Given the description of an element on the screen output the (x, y) to click on. 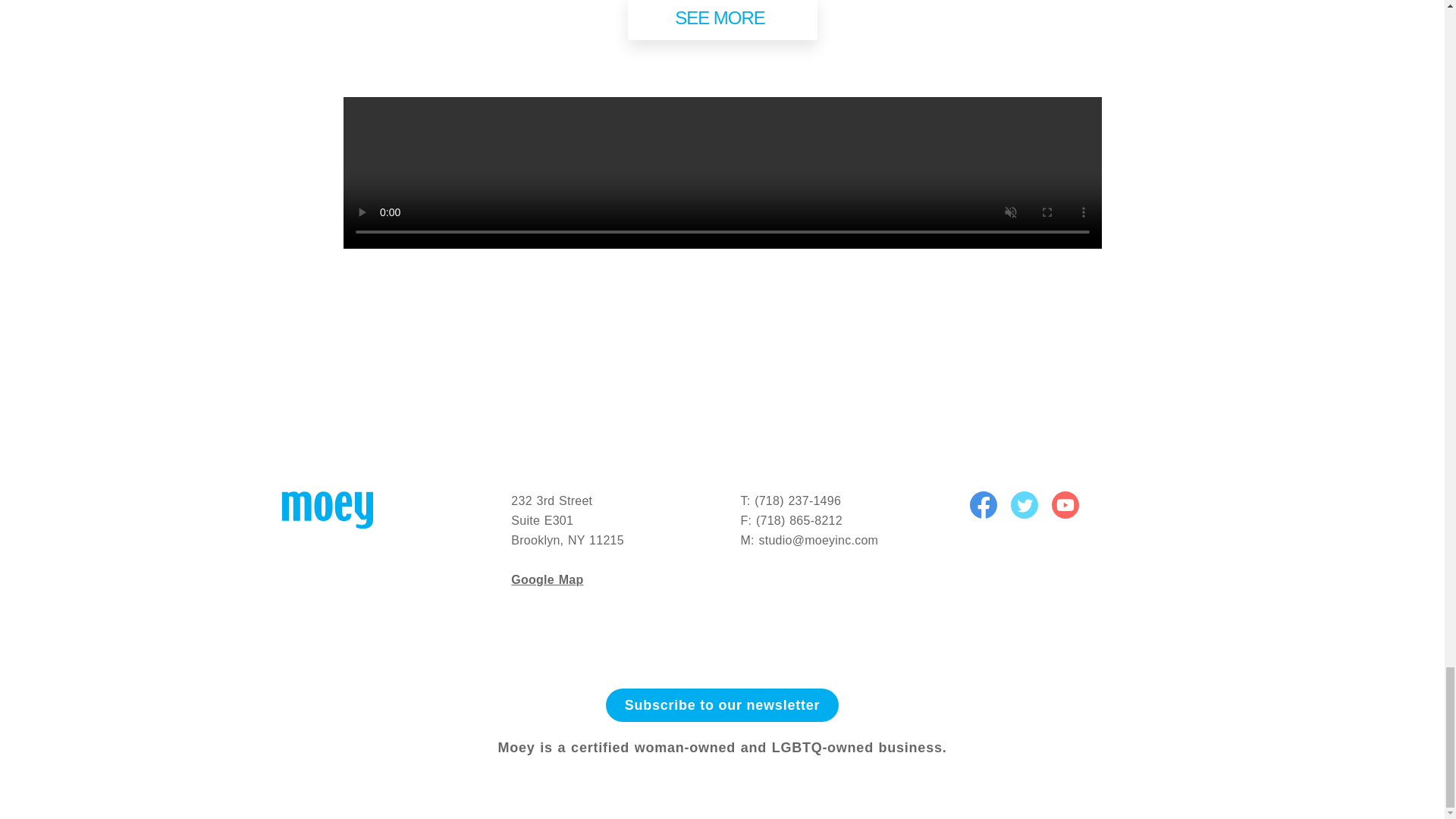
Subscribe to our newsletter (721, 704)
logo whiteCreated with Sketch. (327, 510)
Google Map (547, 579)
SEE MORE (721, 20)
Subscribe to our newsletter (721, 704)
